Given the description of an element on the screen output the (x, y) to click on. 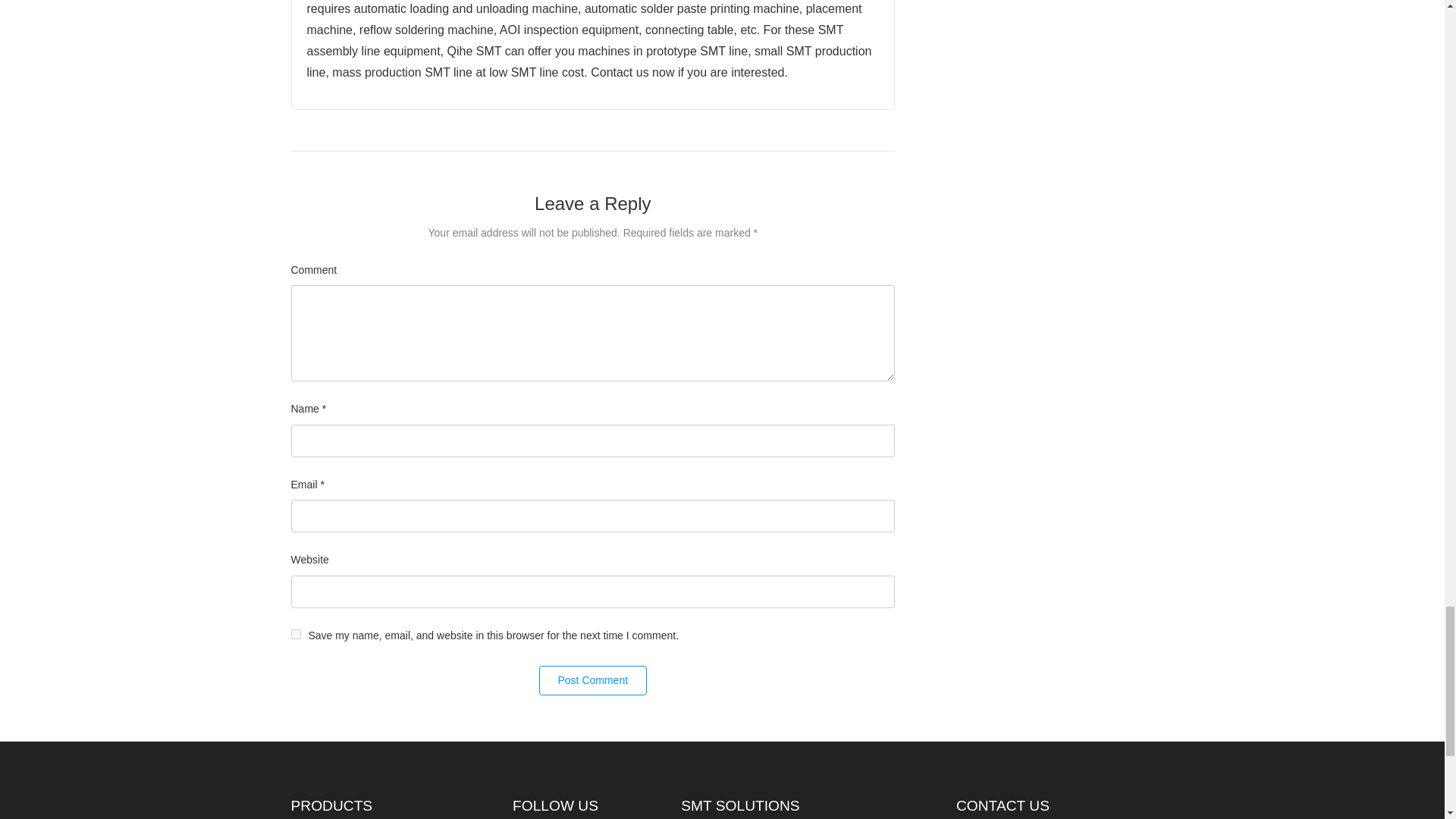
Post Comment (592, 680)
yes (296, 634)
